Given the description of an element on the screen output the (x, y) to click on. 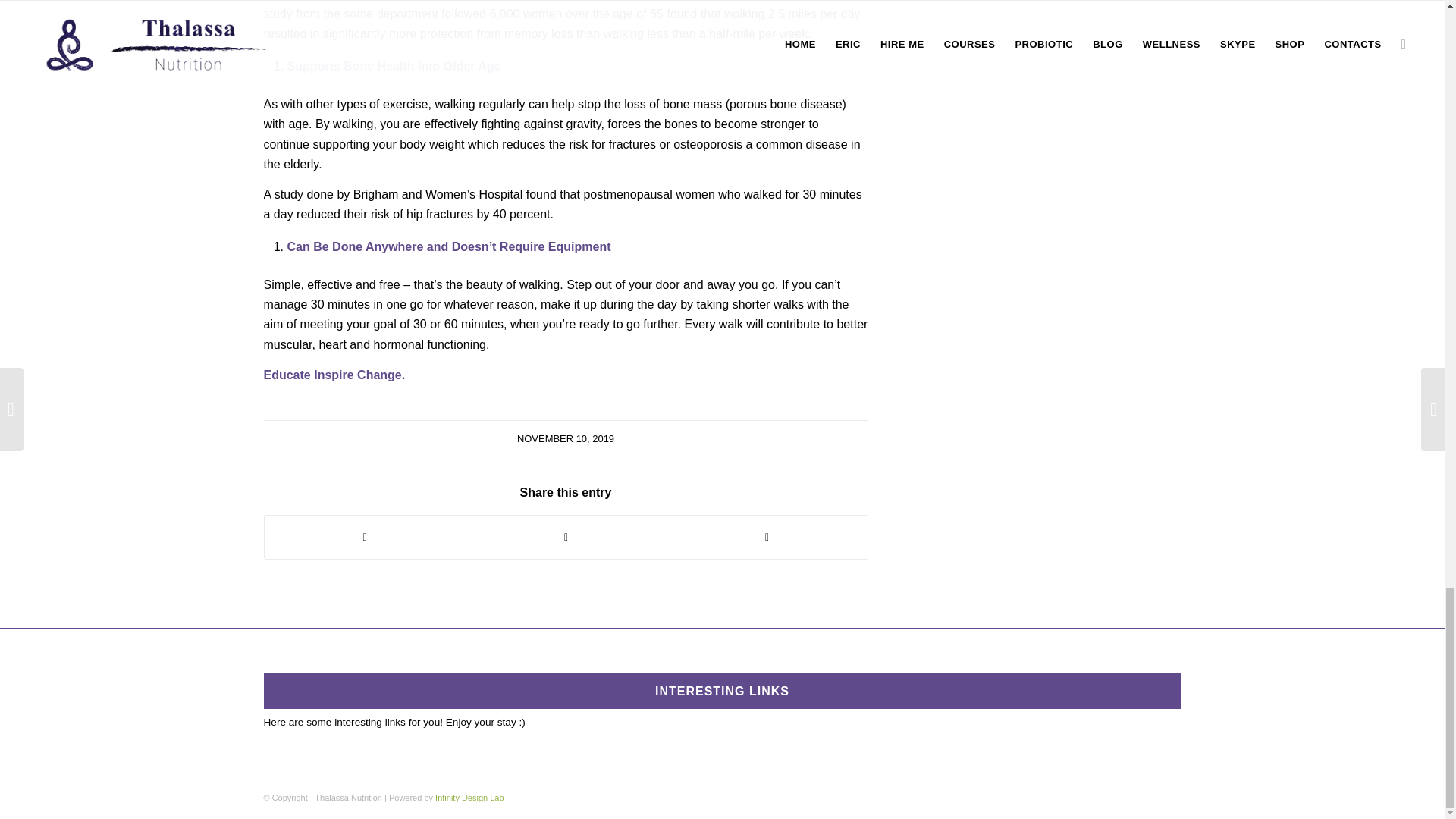
Infinity Design Lab (469, 797)
